Given the description of an element on the screen output the (x, y) to click on. 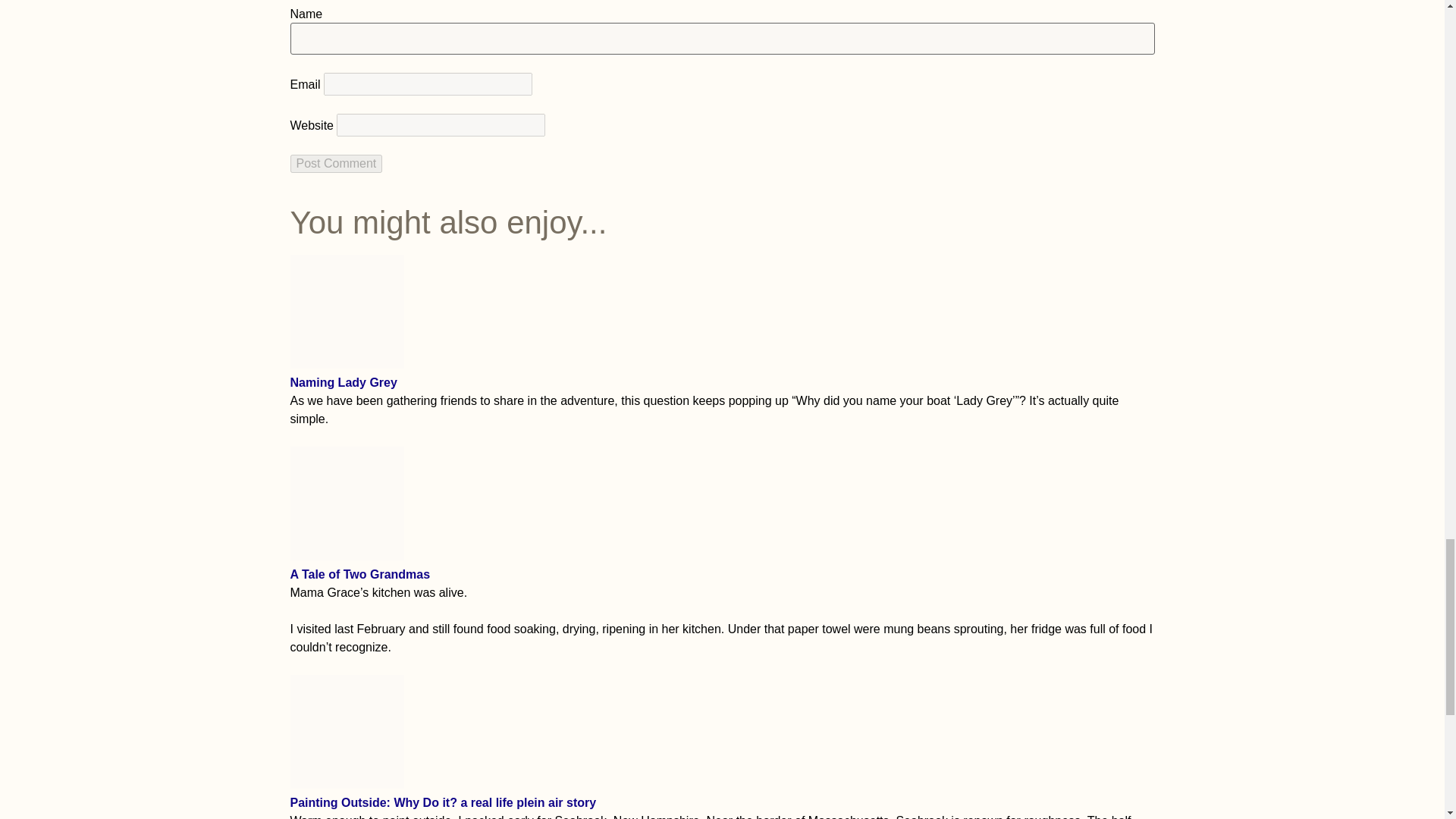
Painting Outside: Why Do it? a real life plein air story (346, 784)
A Tale of Two Grandmas (346, 555)
Post Comment (335, 163)
Naming Lady Grey (346, 364)
